Given the description of an element on the screen output the (x, y) to click on. 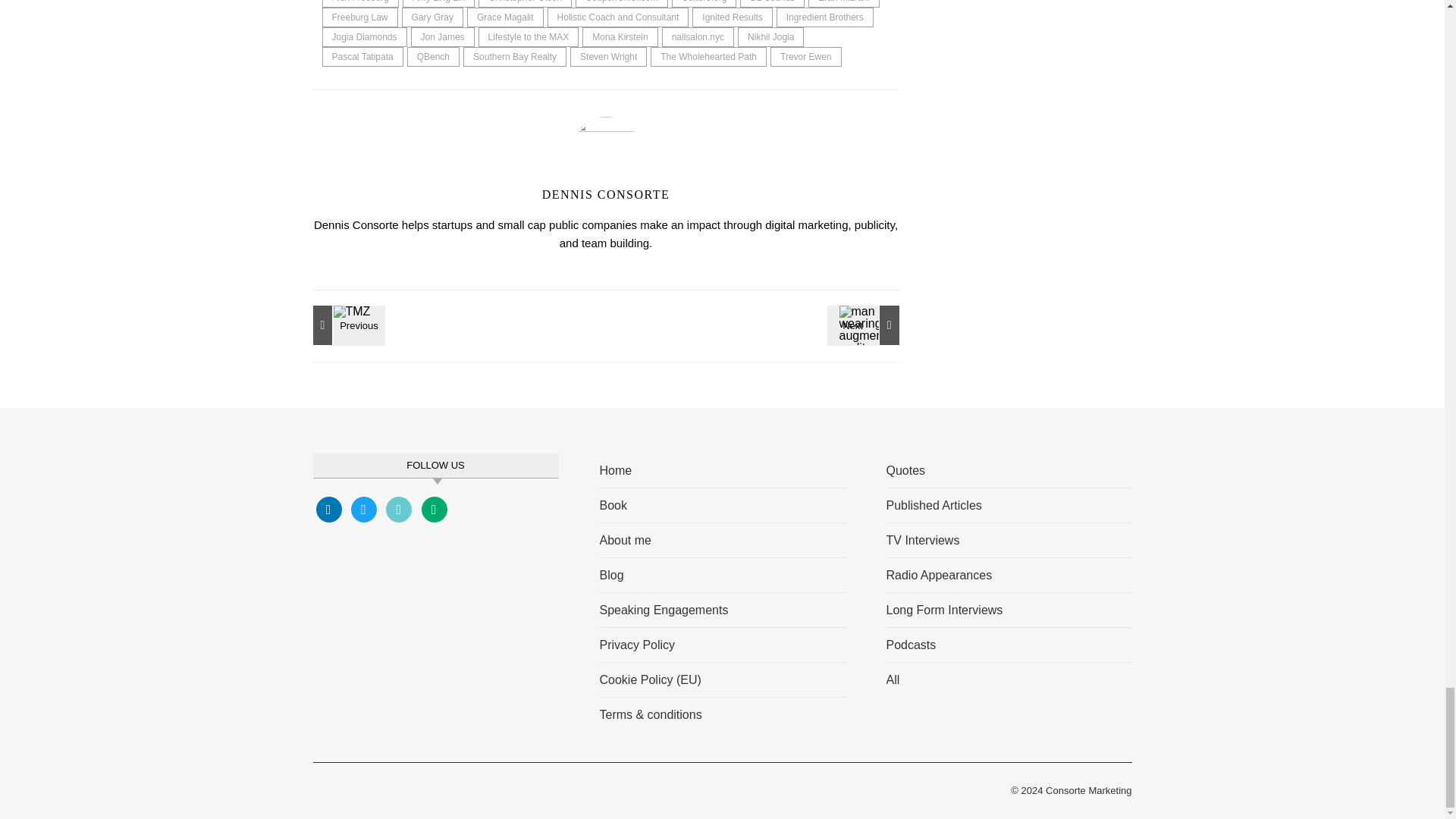
Twitter (363, 508)
Posts by Dennis Consorte (605, 194)
Facebook (327, 508)
Instagram (398, 508)
